Given the description of an element on the screen output the (x, y) to click on. 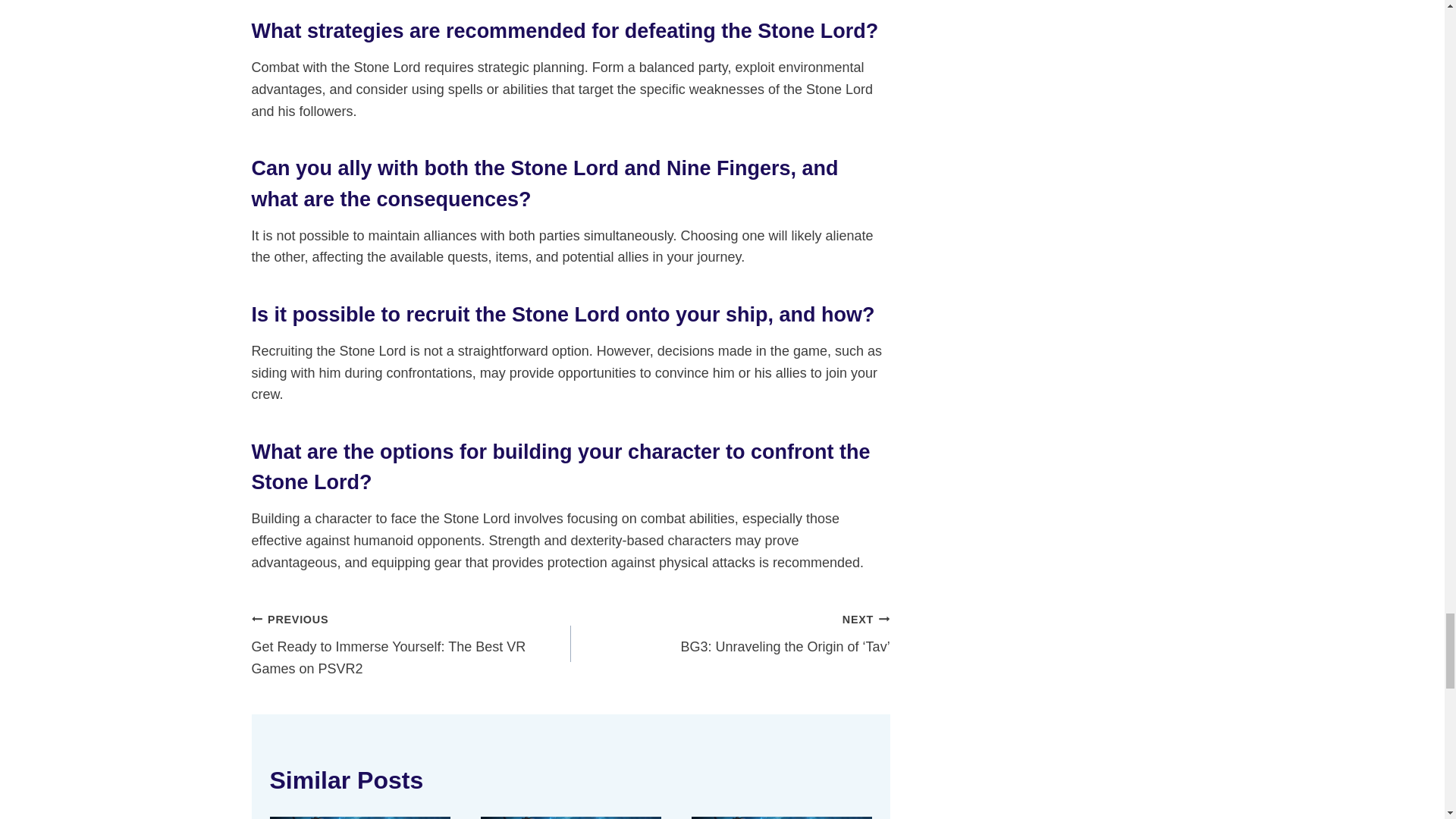
Baldur's Gate 3 Platforms 2 (359, 817)
BG3: Monk Class Guide 4 (781, 817)
Baldur's Gate 3 Gameplay 3 (570, 817)
